Given the description of an element on the screen output the (x, y) to click on. 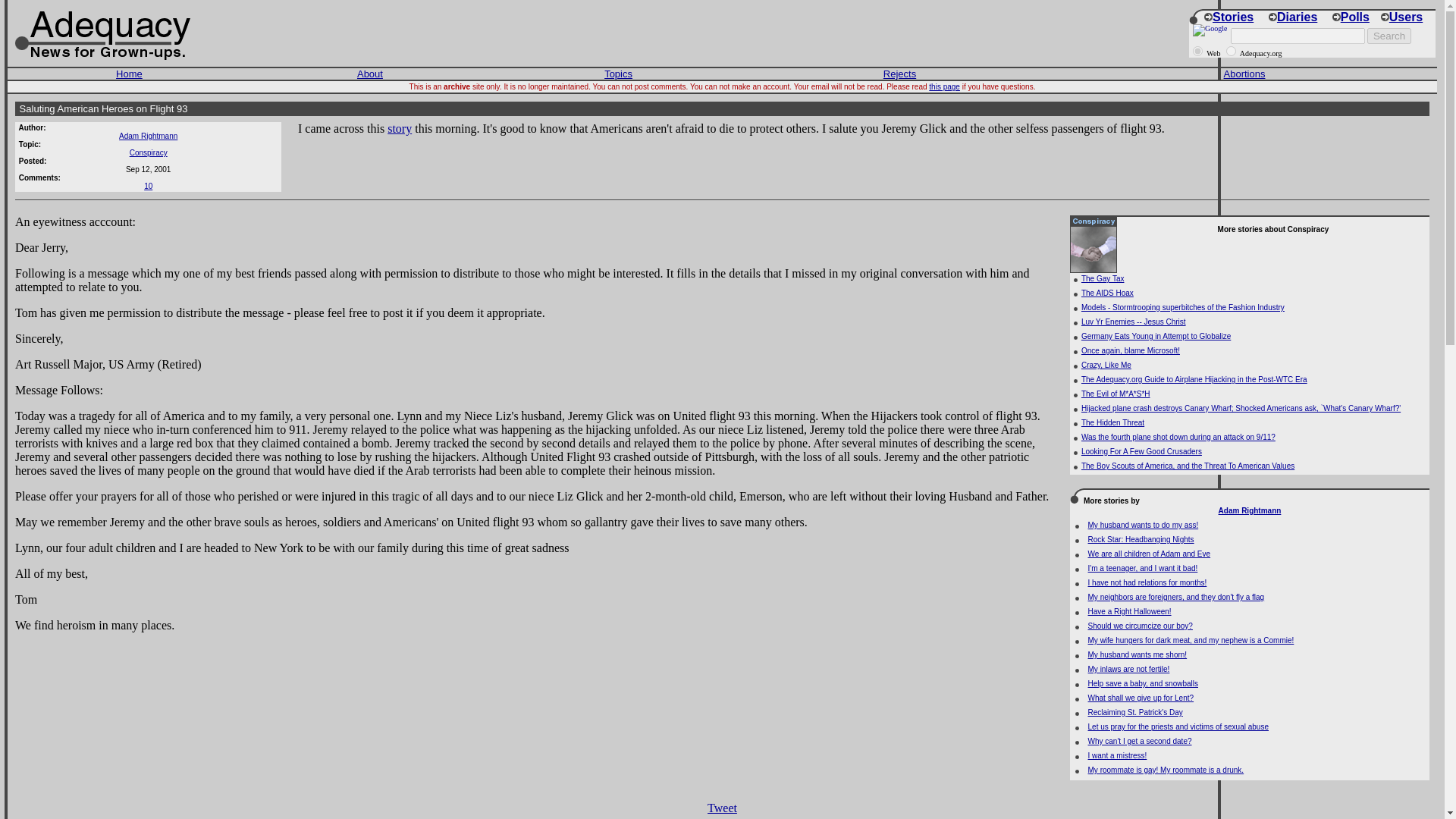
Home (129, 73)
About (369, 73)
adequacy.org (1230, 50)
Luv Yr Enemies -- Jesus Christ (1133, 321)
Germany Eats Young in Attempt to Globalize (1155, 336)
Polls (1351, 16)
The Hidden Threat (1112, 422)
Have a Right Halloween! (1129, 611)
Topics (617, 73)
The Boy Scouts of America, and the Threat To American Values (1187, 465)
Adam Rightmann (148, 135)
10 (148, 185)
Models - Stormtrooping superbitches of the Fashion Industry (1182, 307)
Search (1388, 35)
